Given the description of an element on the screen output the (x, y) to click on. 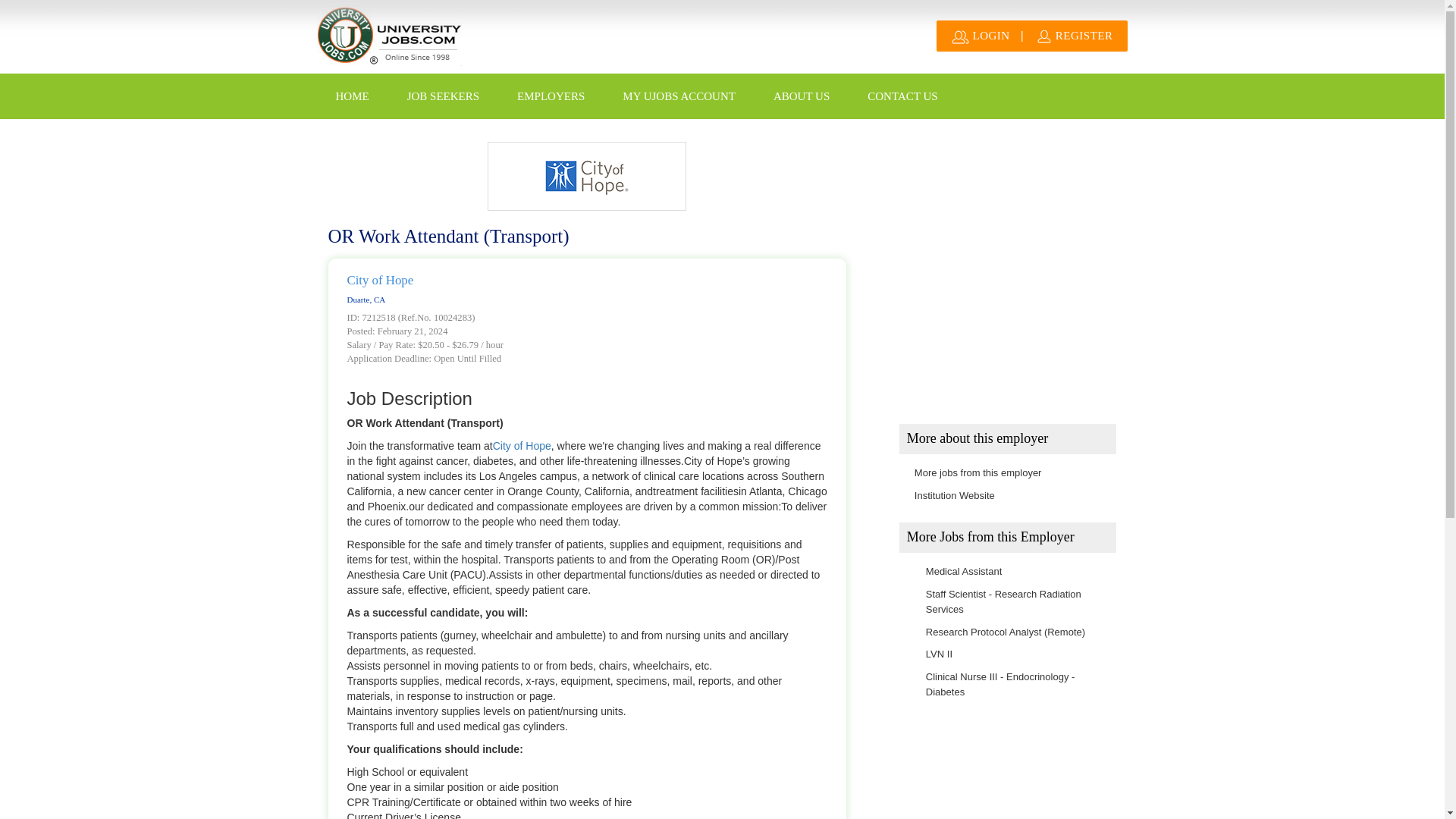
City of Hope (522, 445)
City of Hope (380, 279)
MY UJOBS ACCOUNT (679, 95)
REGISTER (1074, 35)
LVN II (939, 654)
Institution Website (954, 495)
Medical Assistant (963, 571)
ABOUT US (801, 95)
CONTACT US (902, 95)
LOGIN (980, 35)
JOB SEEKERS (442, 95)
HOME (352, 95)
Clinical Nurse III - Endocrinology - Diabetes (1000, 683)
Staff Scientist - Research Radiation Services (1003, 601)
EMPLOYERS (550, 95)
